Given the description of an element on the screen output the (x, y) to click on. 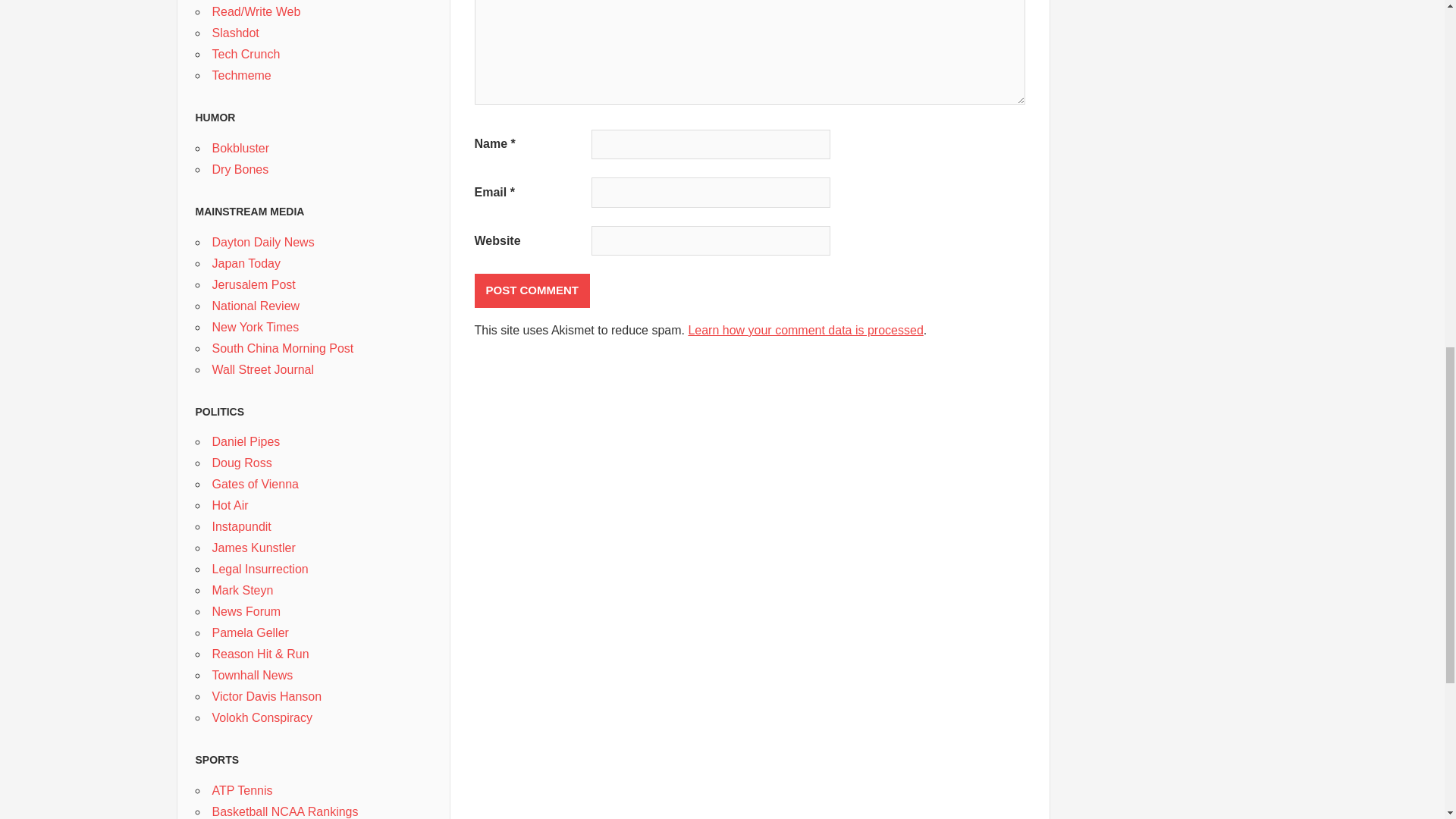
Slashdot (235, 32)
Post Comment (532, 290)
Dry Bones (240, 169)
Learn how your comment data is processed (805, 329)
Techmeme (241, 74)
Post Comment (532, 290)
Bokbluster (240, 147)
Tech Crunch (246, 53)
